Given the description of an element on the screen output the (x, y) to click on. 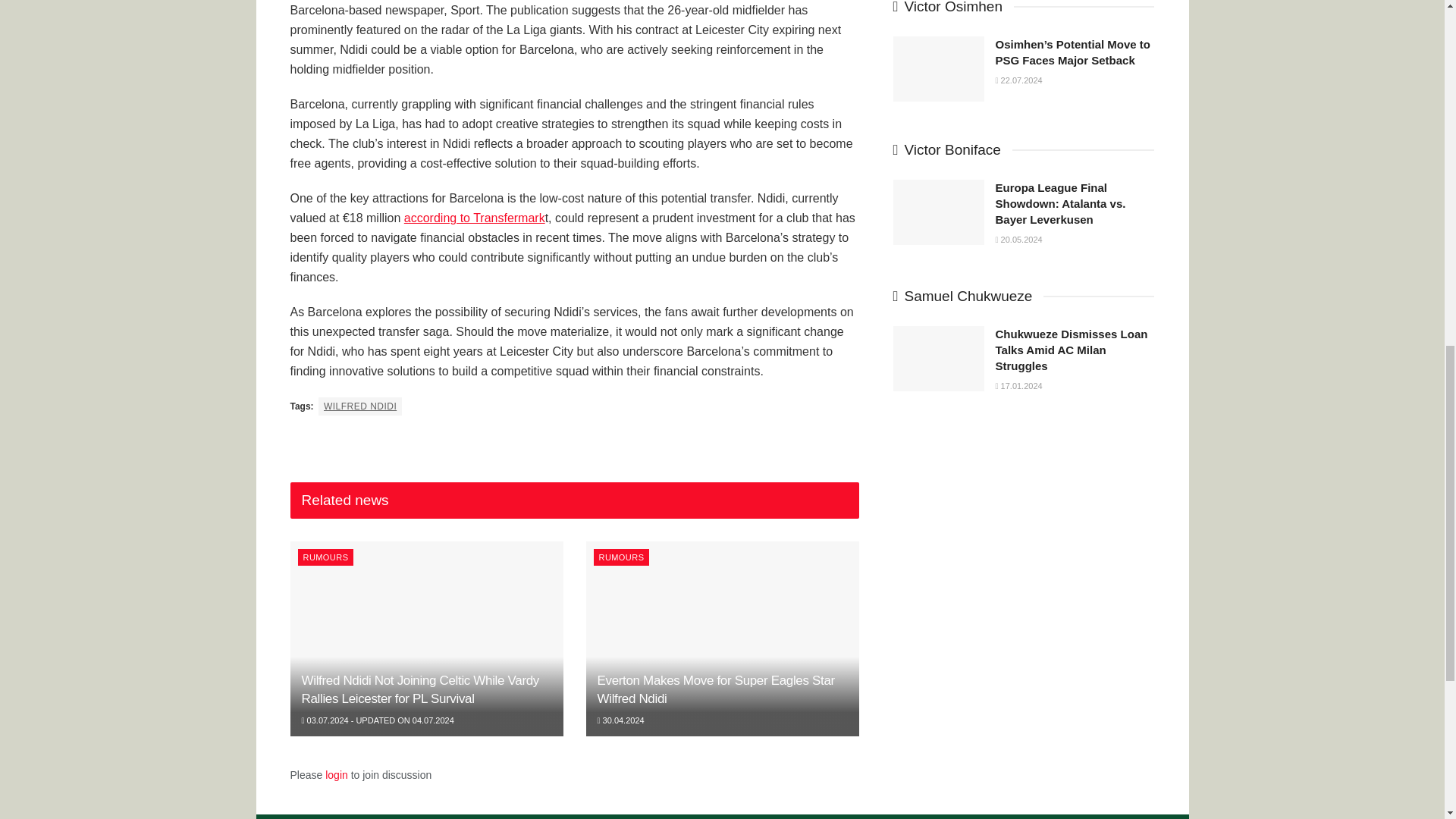
WILFRED NDIDI (359, 406)
RUMOURS (325, 556)
according to Transfermark (474, 217)
